Given the description of an element on the screen output the (x, y) to click on. 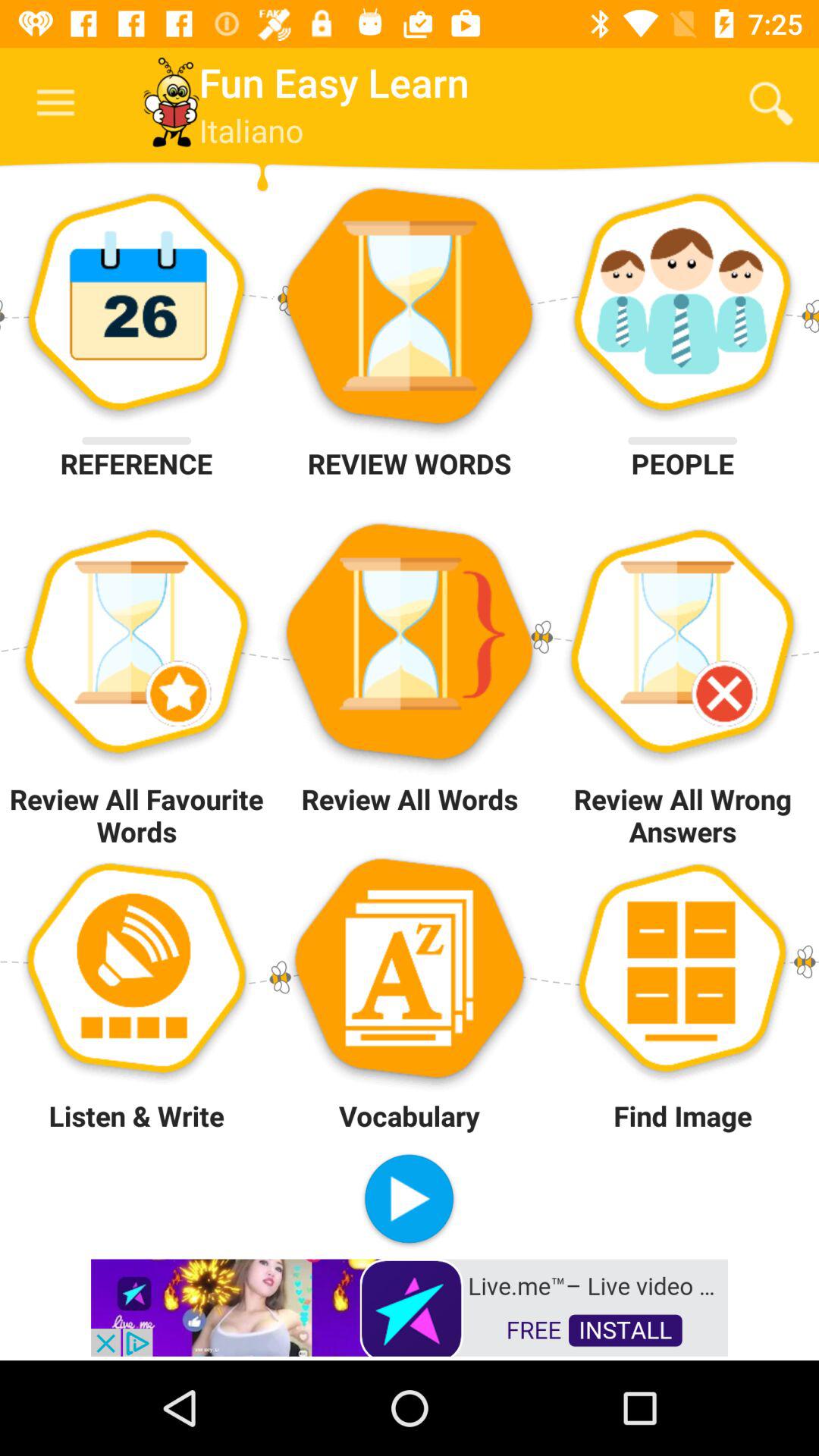
open advertisement (409, 1306)
